Given the description of an element on the screen output the (x, y) to click on. 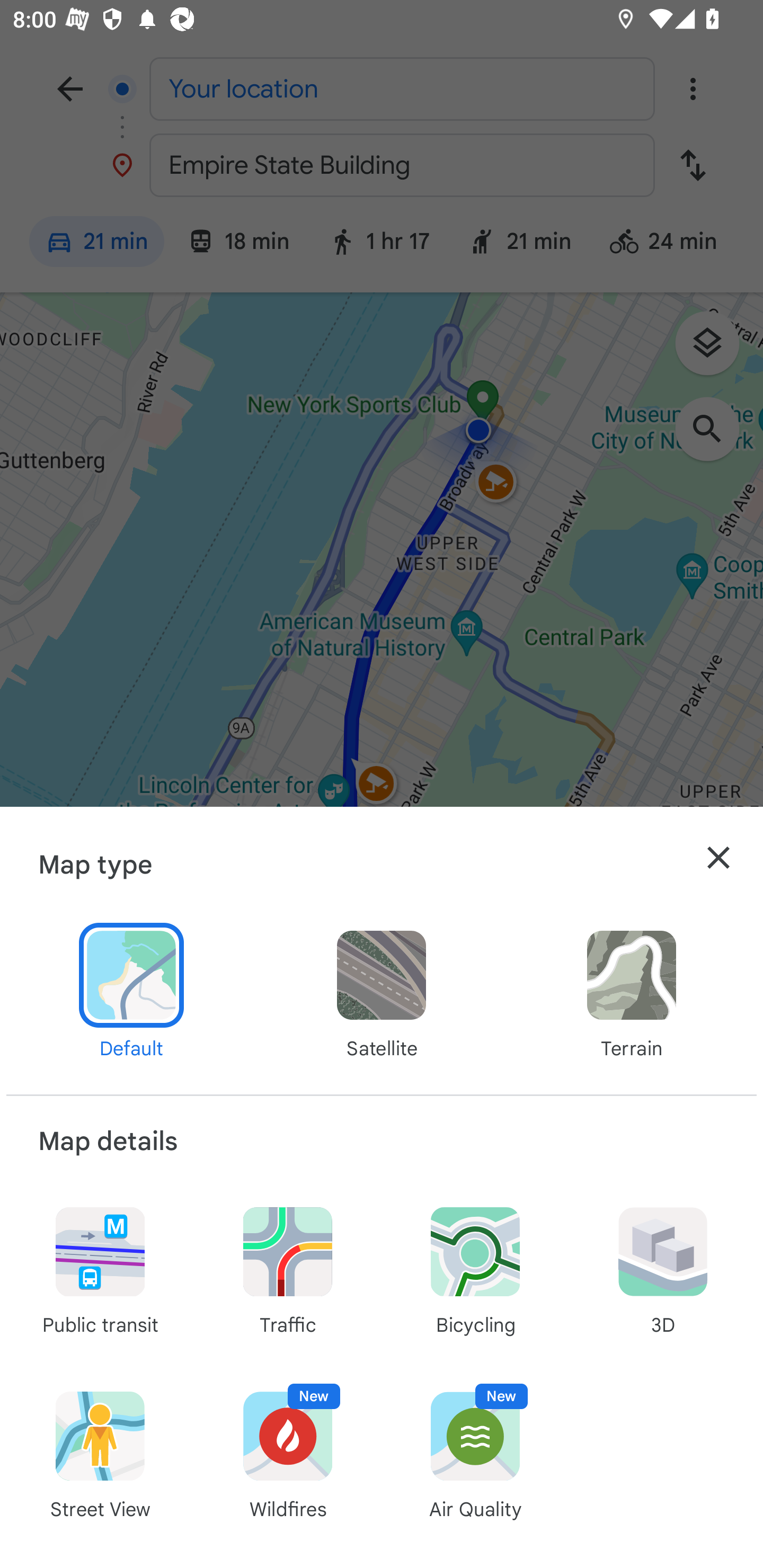
Close menu (718, 857)
Default (131, 993)
Satellite (381, 993)
Terrain (631, 993)
Public transit (100, 1269)
Traffic (287, 1269)
Bicycling (474, 1269)
3D (662, 1269)
Street View (100, 1453)
New, Wildfires New Wildfires (287, 1453)
New, Air Quality New Air Quality (474, 1453)
